Given the description of an element on the screen output the (x, y) to click on. 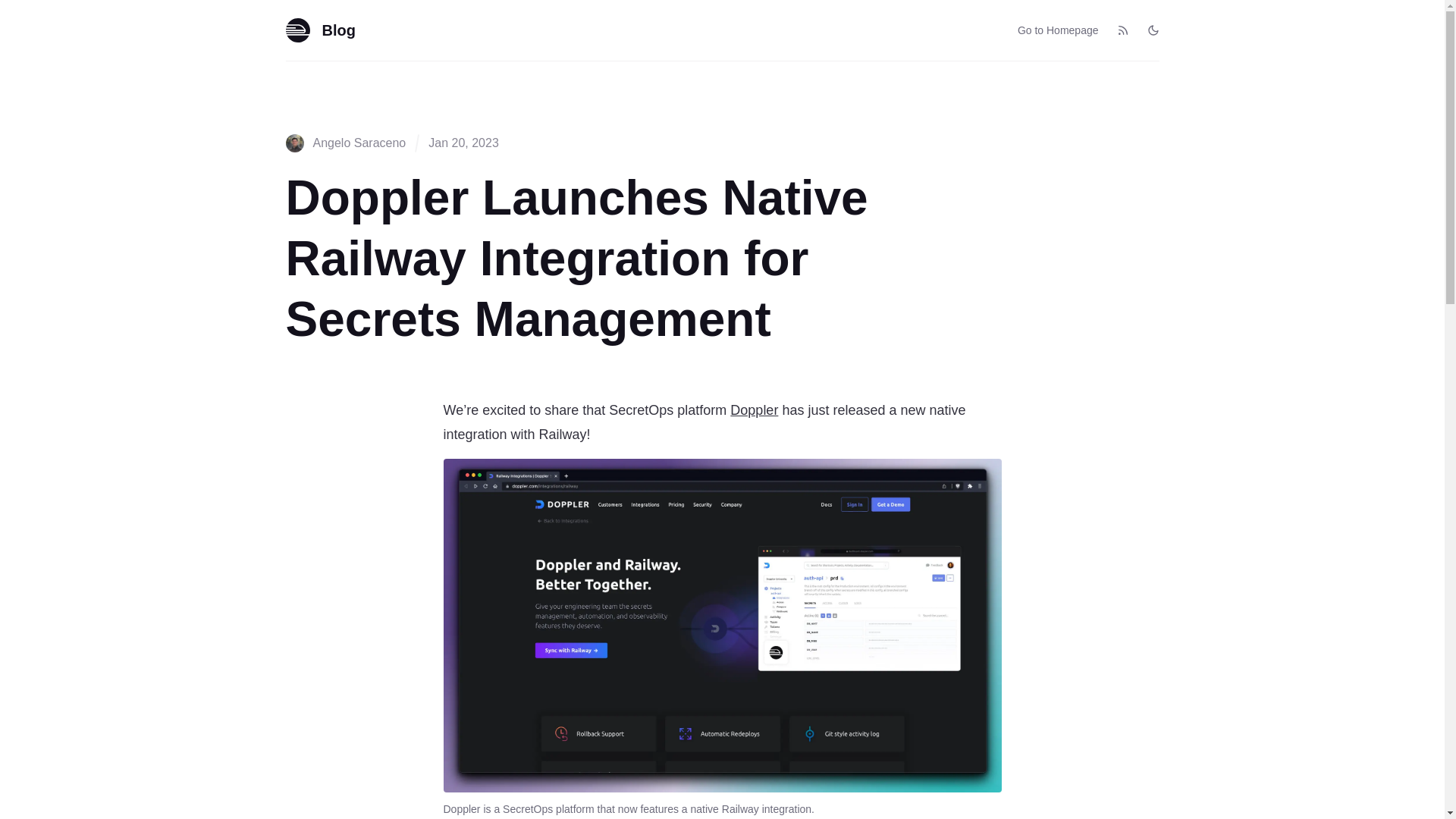
Blog (320, 30)
Doppler (753, 409)
Go to Homepage (1058, 30)
